Given the description of an element on the screen output the (x, y) to click on. 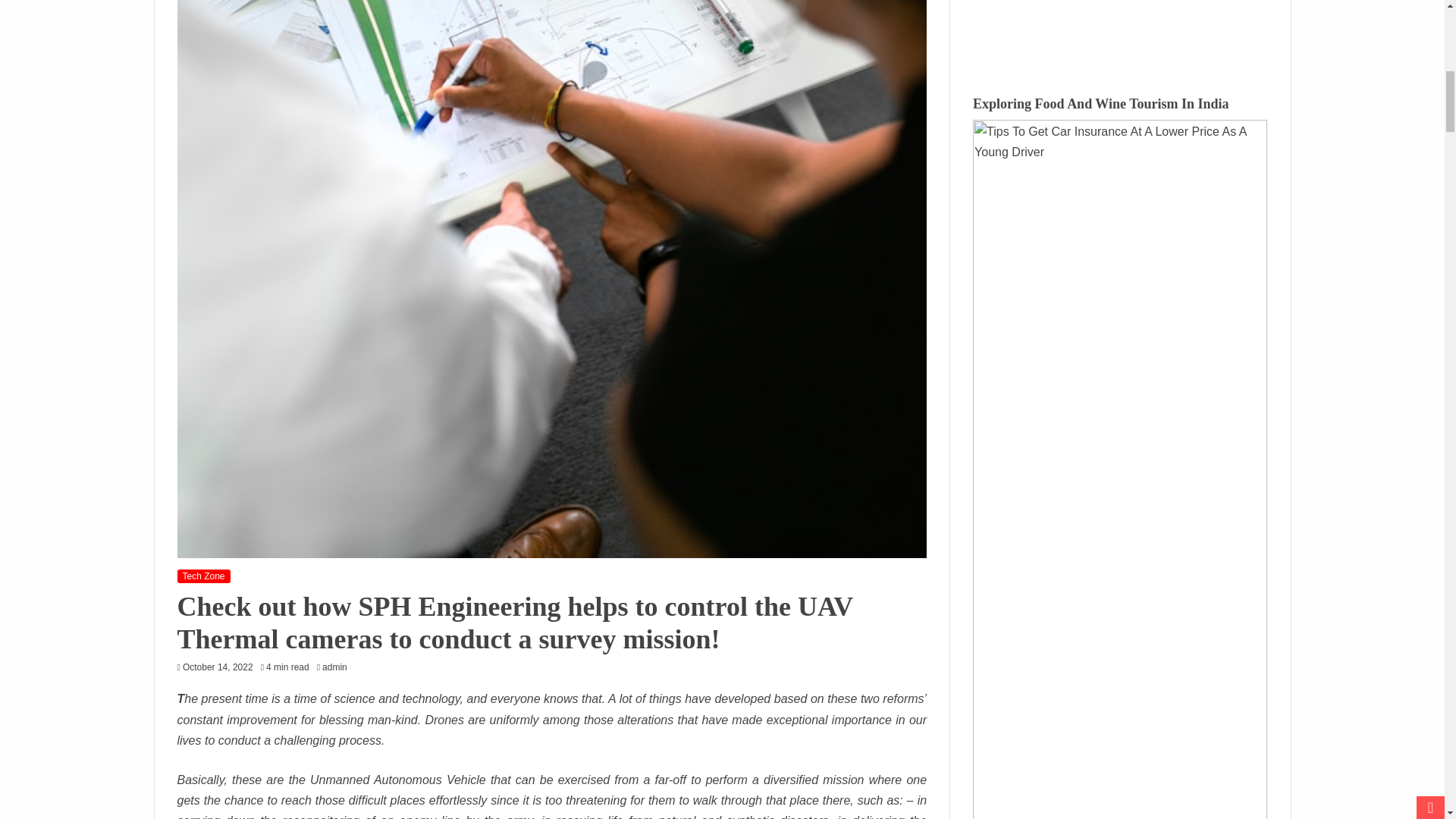
admin (338, 666)
October 14, 2022 (218, 666)
Tech Zone (203, 576)
